Given the description of an element on the screen output the (x, y) to click on. 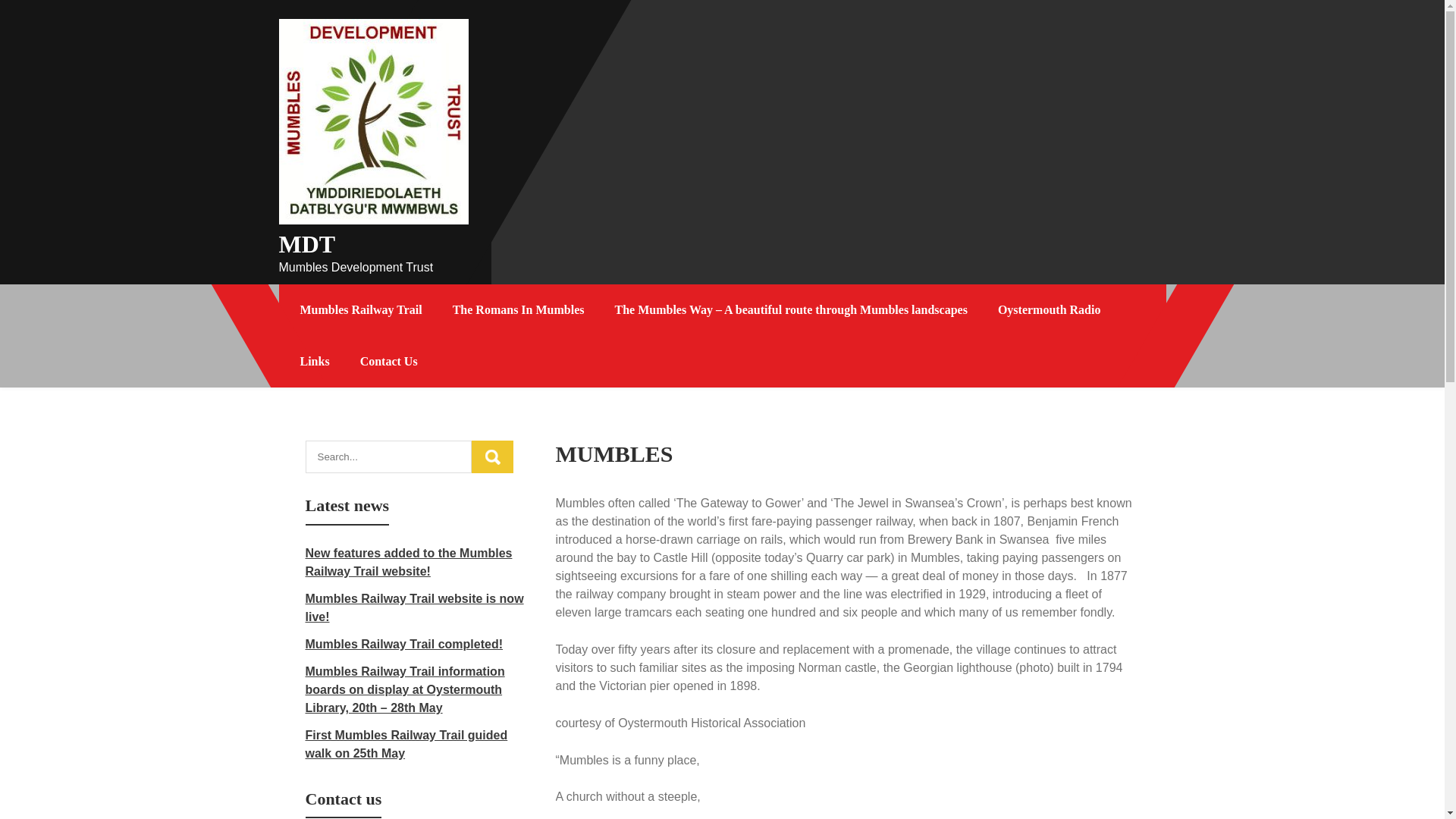
New features added to the Mumbles Railway Trail website! (408, 562)
Links (314, 361)
Search (492, 456)
Mumbles Railway Trail website is now live! (413, 607)
Search (492, 456)
Contact Us (388, 361)
First Mumbles Railway Trail guided walk on 25th May (405, 744)
Oystermouth Radio (1049, 309)
Mumbles Railway Trail (360, 309)
The Romans In Mumbles (518, 309)
